Given the description of an element on the screen output the (x, y) to click on. 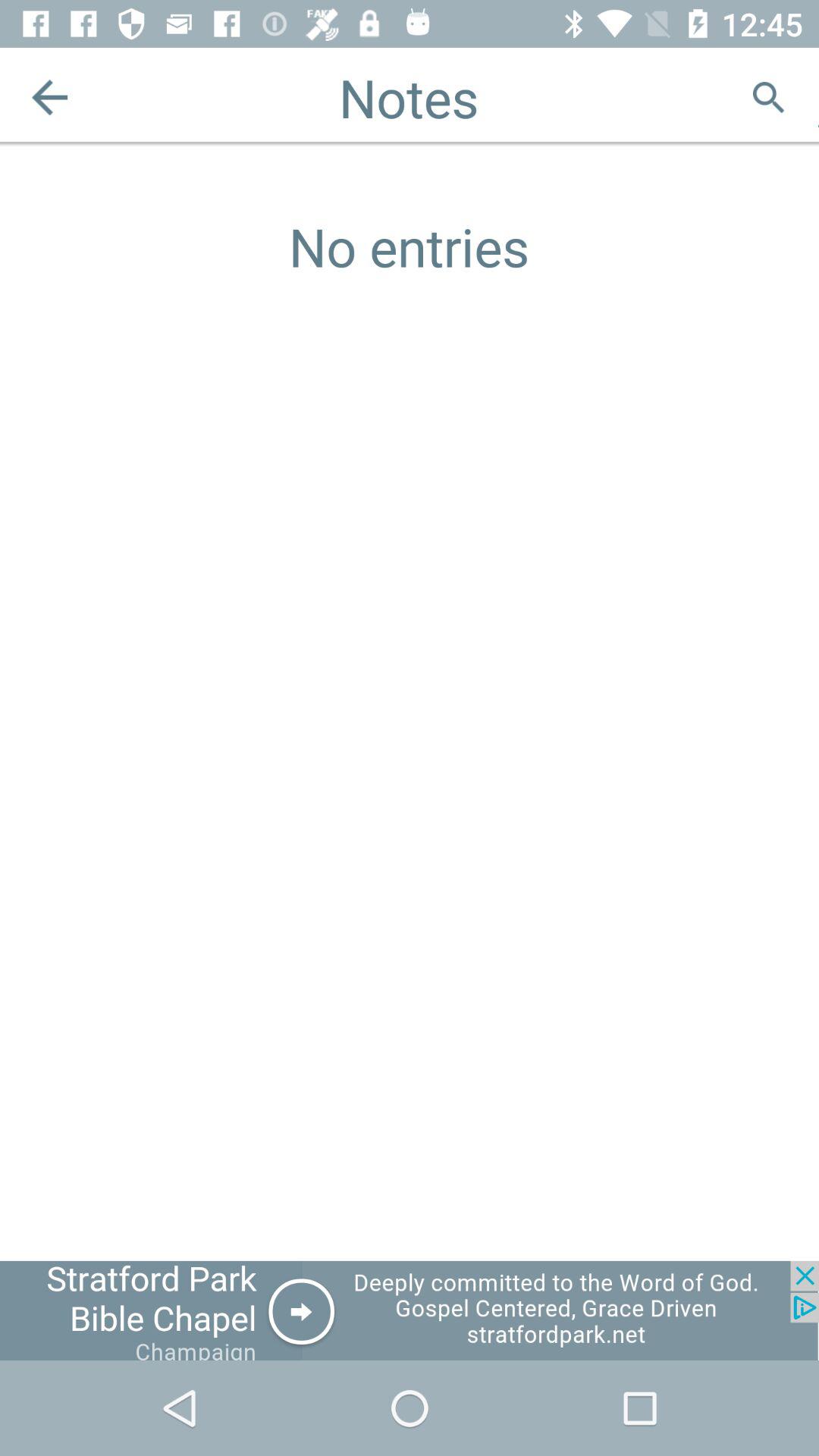
go back (49, 97)
